Given the description of an element on the screen output the (x, y) to click on. 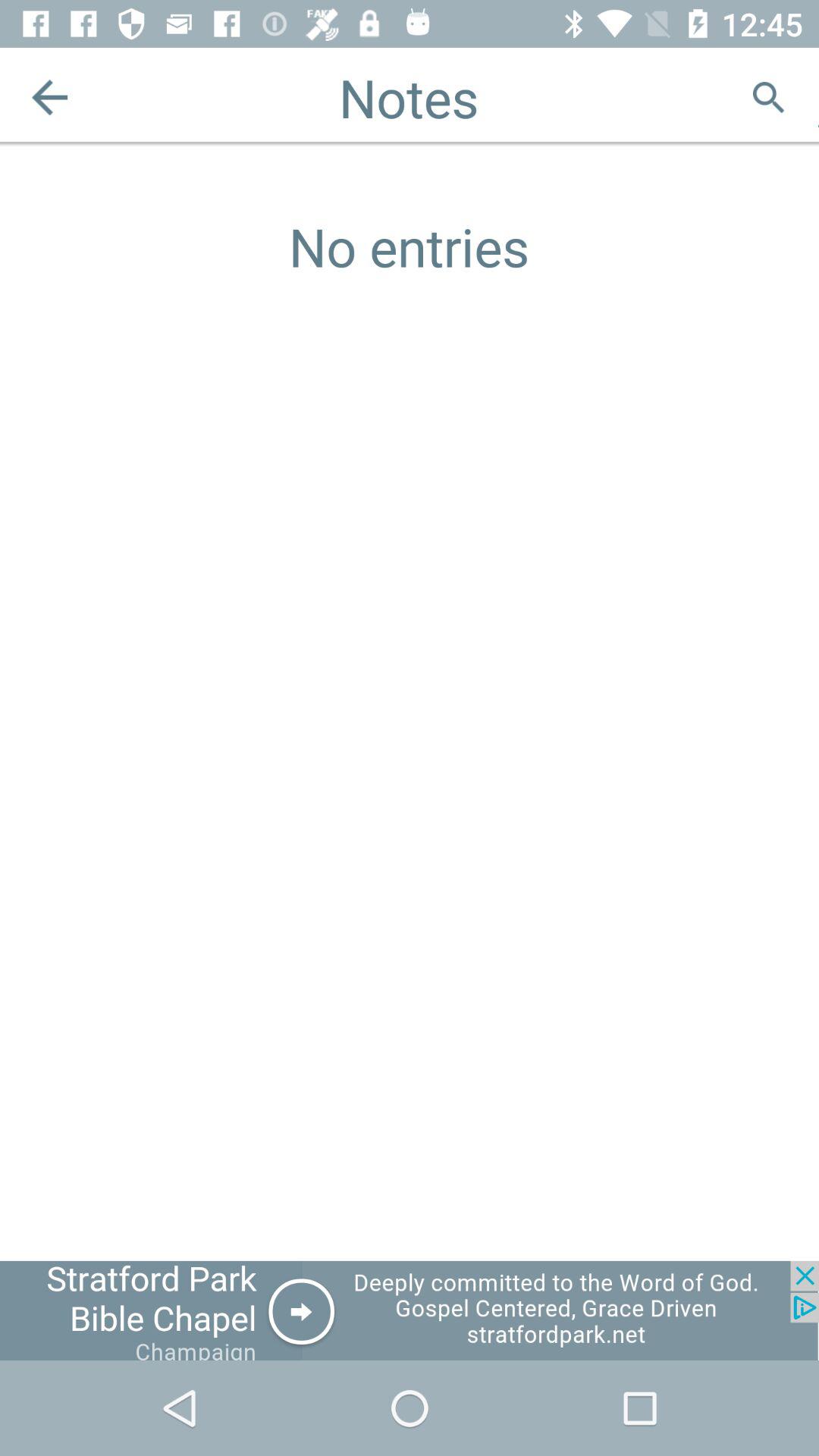
go back (49, 97)
